Given the description of an element on the screen output the (x, y) to click on. 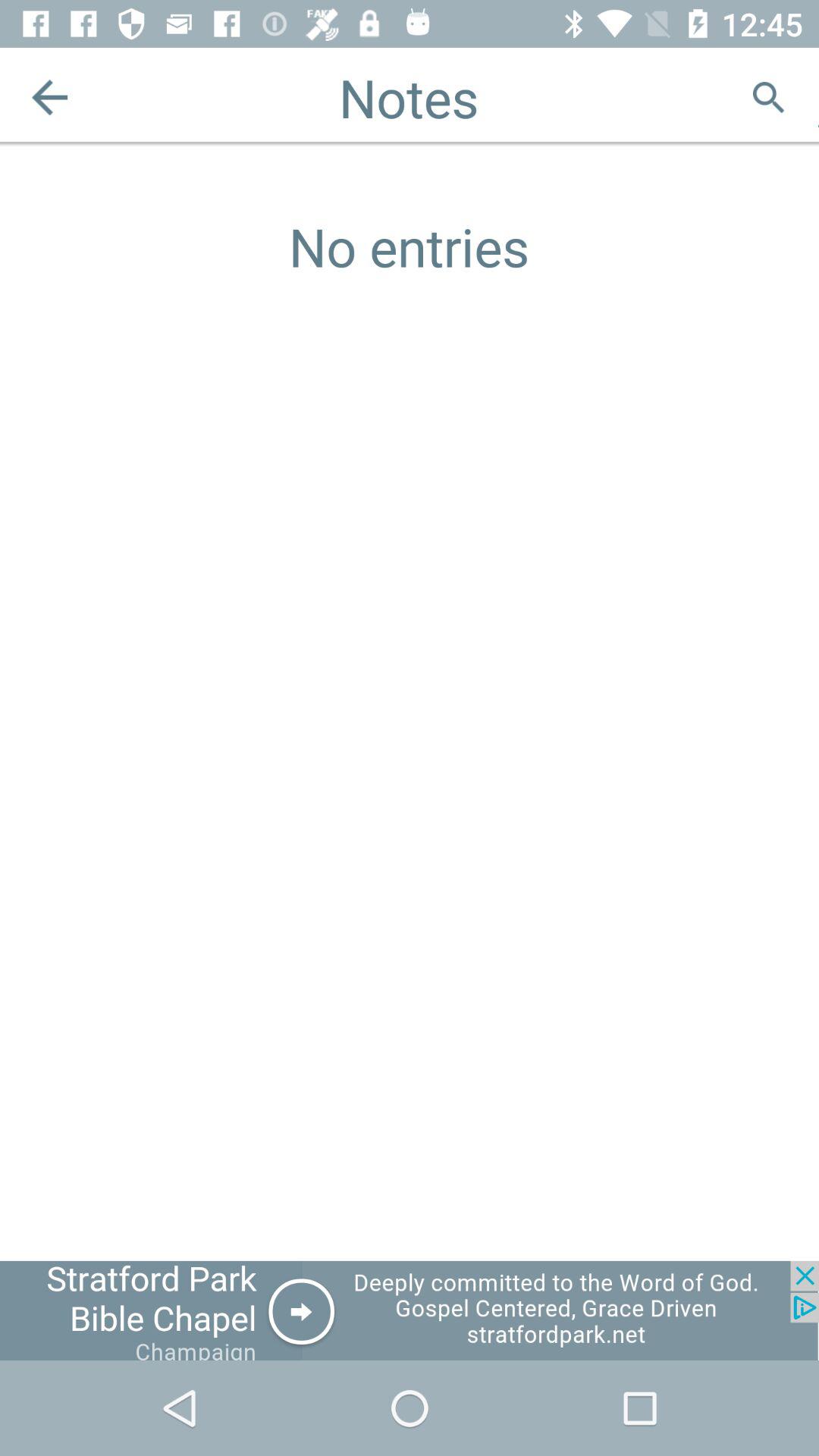
go back (49, 97)
